Given the description of an element on the screen output the (x, y) to click on. 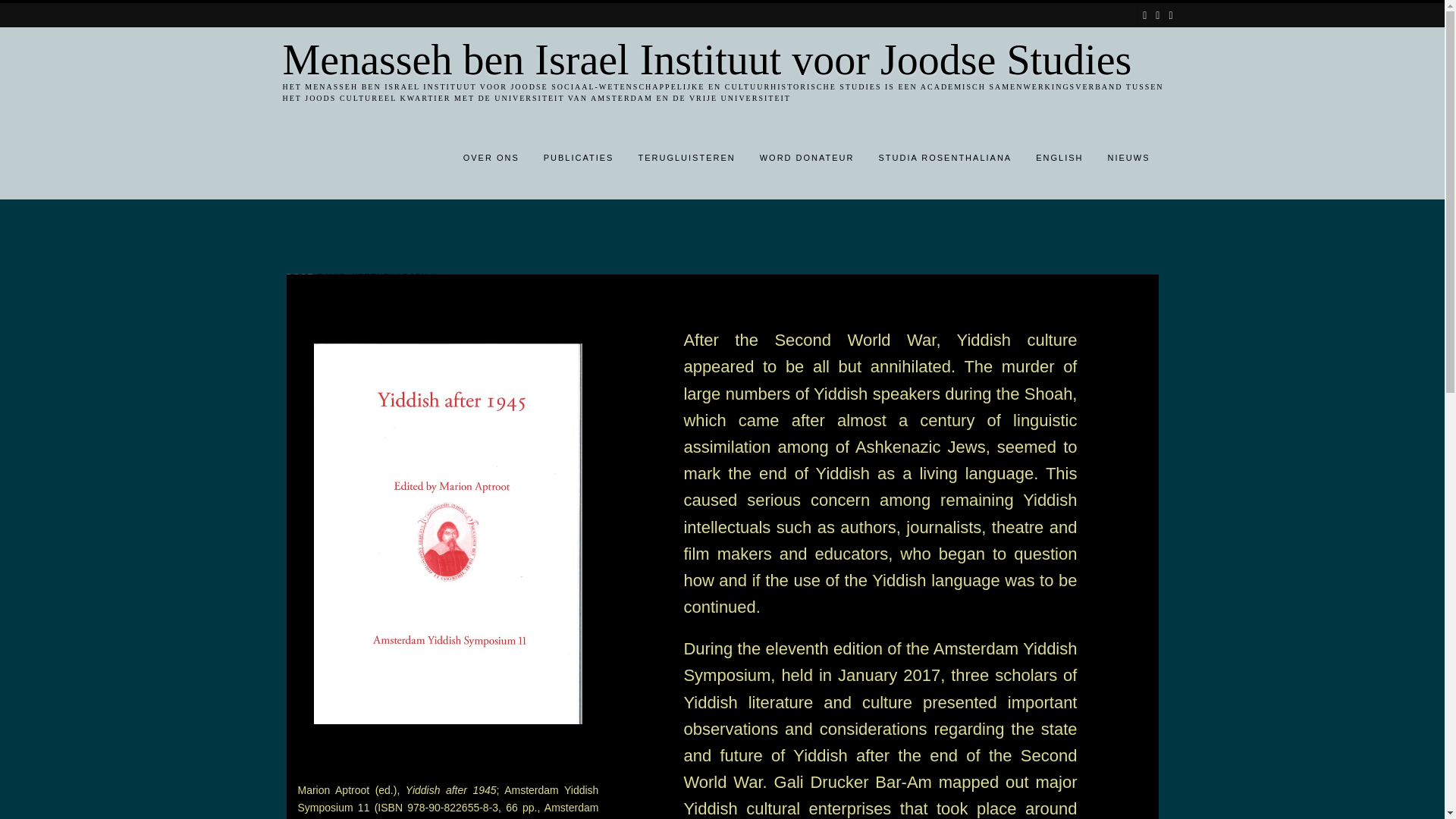
OVER ONS (491, 158)
TERUGLUISTEREN (686, 158)
Menasseh ben Israel Instituut voor Joodse Studies (729, 59)
STUDIA ROSENTHALIANA (944, 158)
WORD DONATEUR (807, 158)
Menasseh ben Israel Instituut voor Joodse Studies (729, 59)
PUBLICATIES (578, 158)
